Given the description of an element on the screen output the (x, y) to click on. 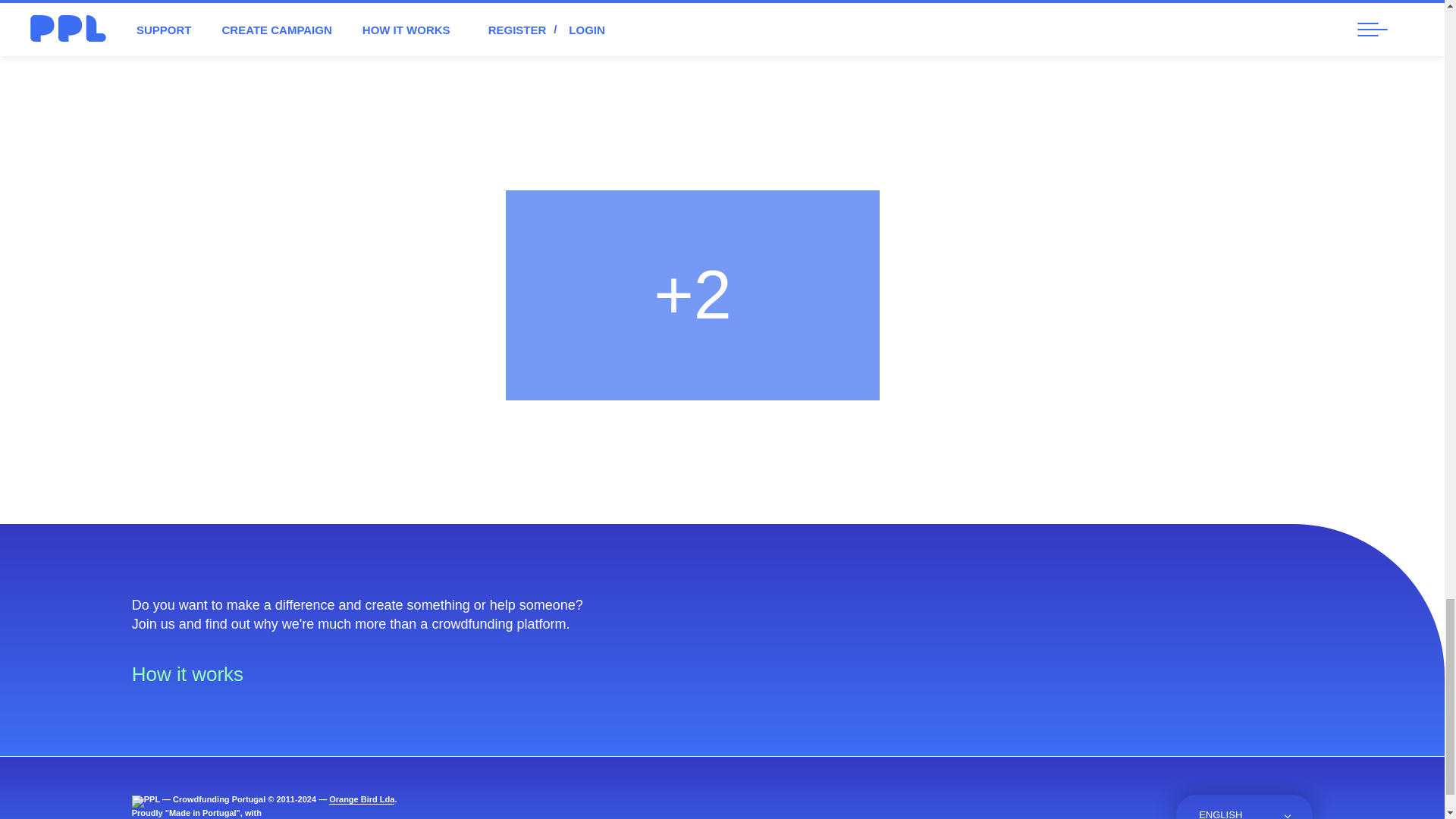
Facebook (1033, 811)
Blog (1110, 811)
Instagram (1071, 811)
